Given the description of an element on the screen output the (x, y) to click on. 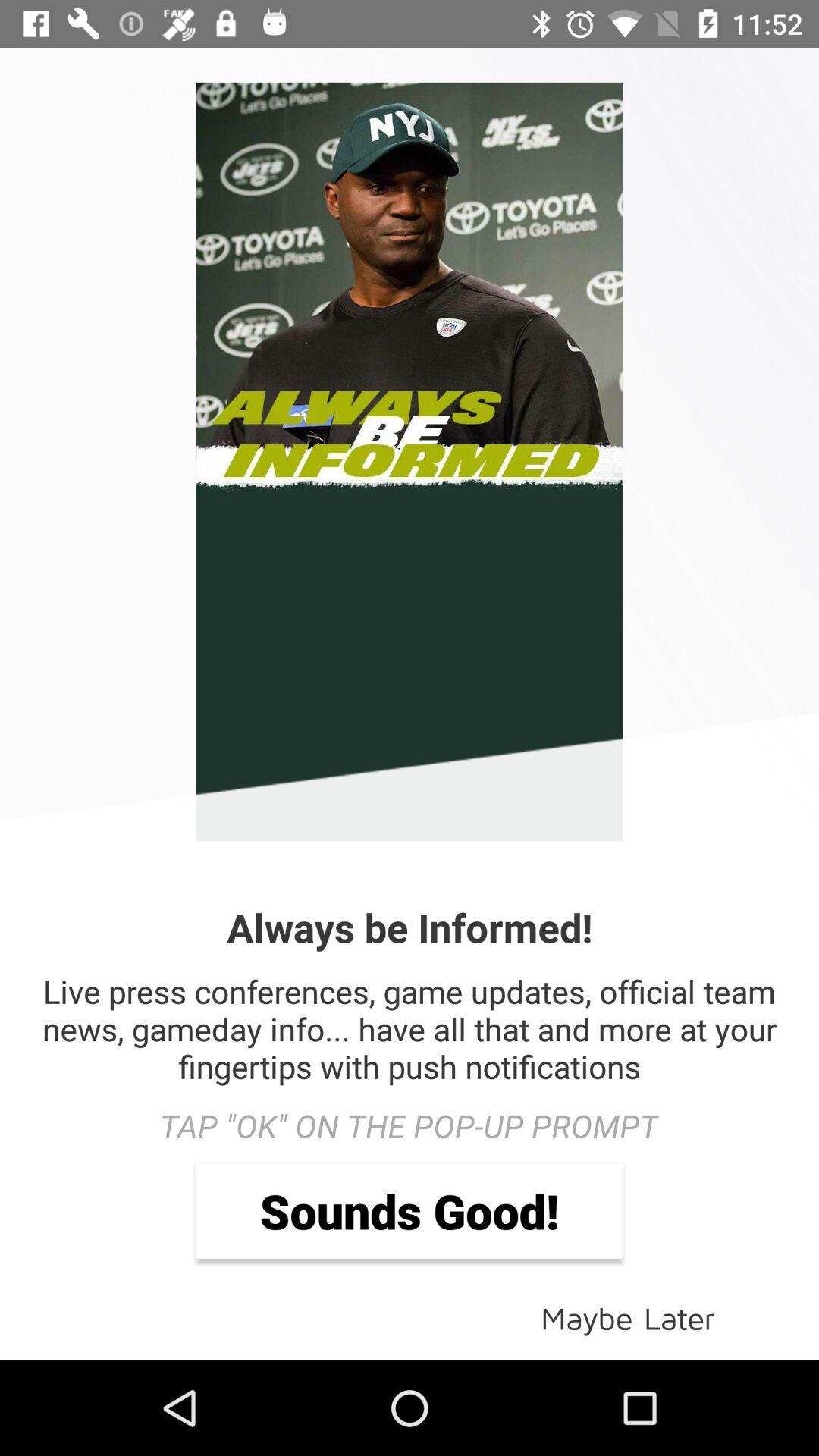
swipe to the sounds good! (409, 1210)
